Given the description of an element on the screen output the (x, y) to click on. 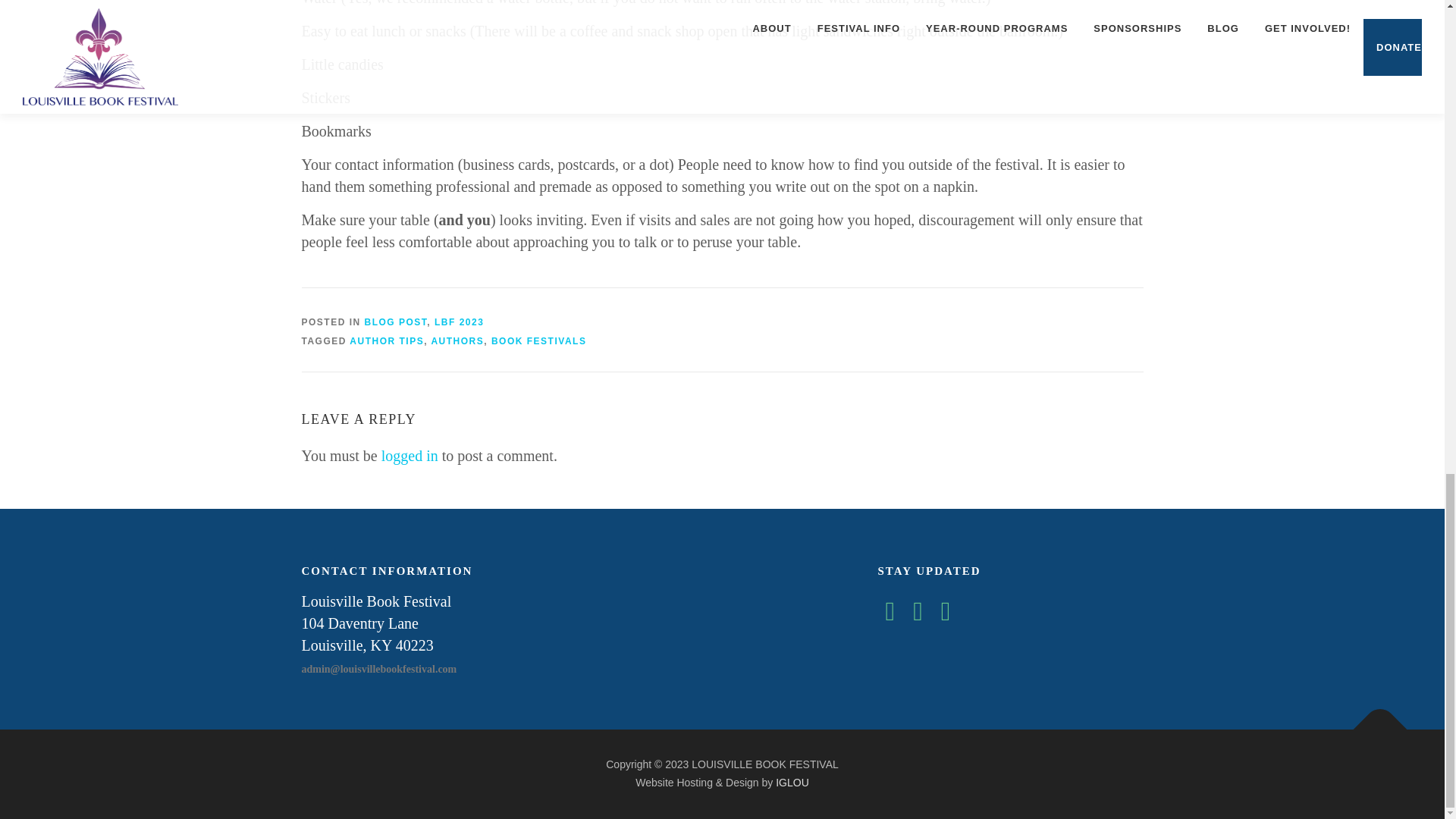
Back To Top (1372, 721)
Facebook (889, 616)
Twitter (917, 616)
Instagram (945, 616)
